Given the description of an element on the screen output the (x, y) to click on. 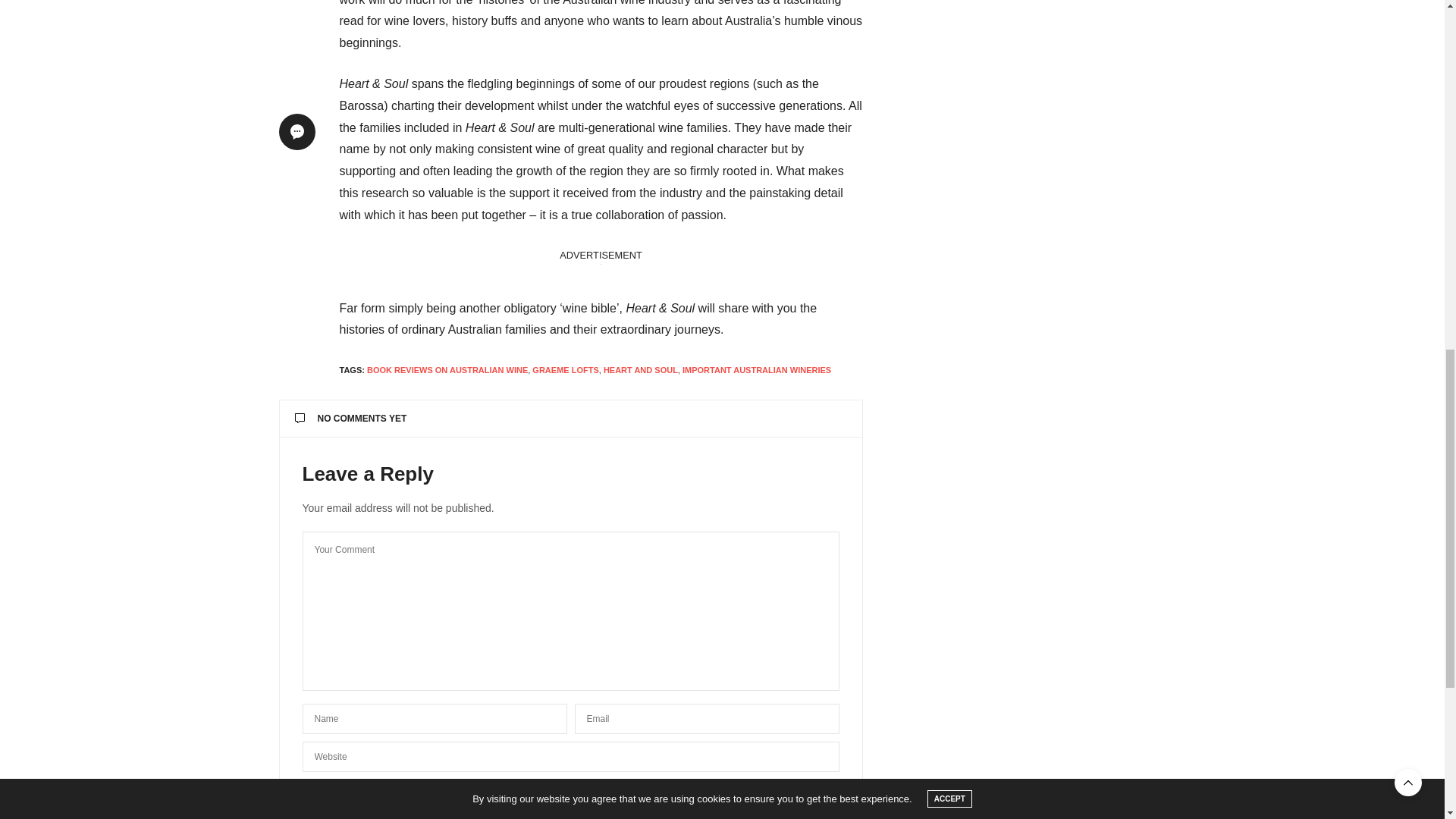
Submit Comment (569, 794)
